Given the description of an element on the screen output the (x, y) to click on. 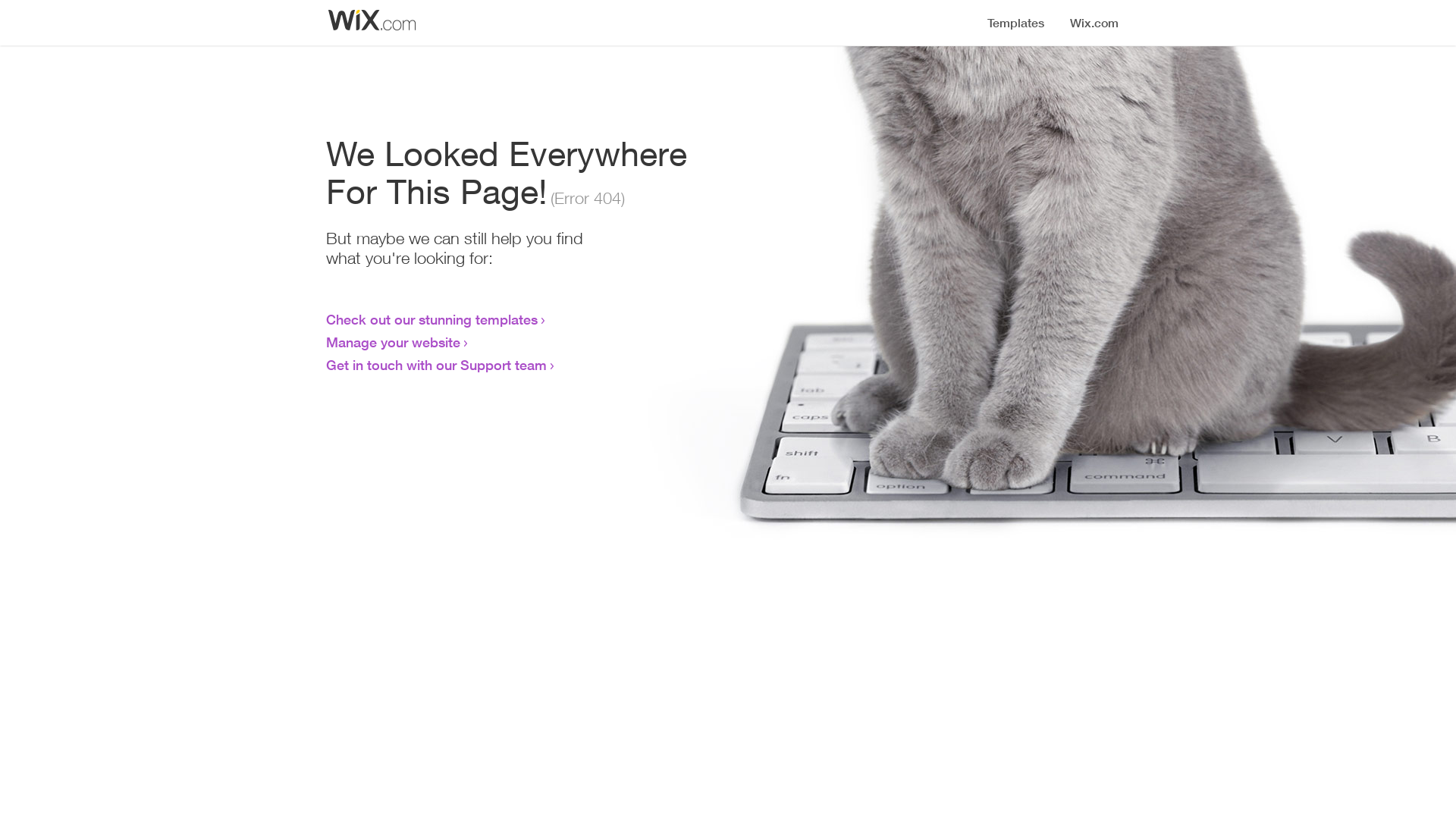
Manage your website Element type: text (393, 341)
Check out our stunning templates Element type: text (431, 318)
Get in touch with our Support team Element type: text (436, 364)
